Given the description of an element on the screen output the (x, y) to click on. 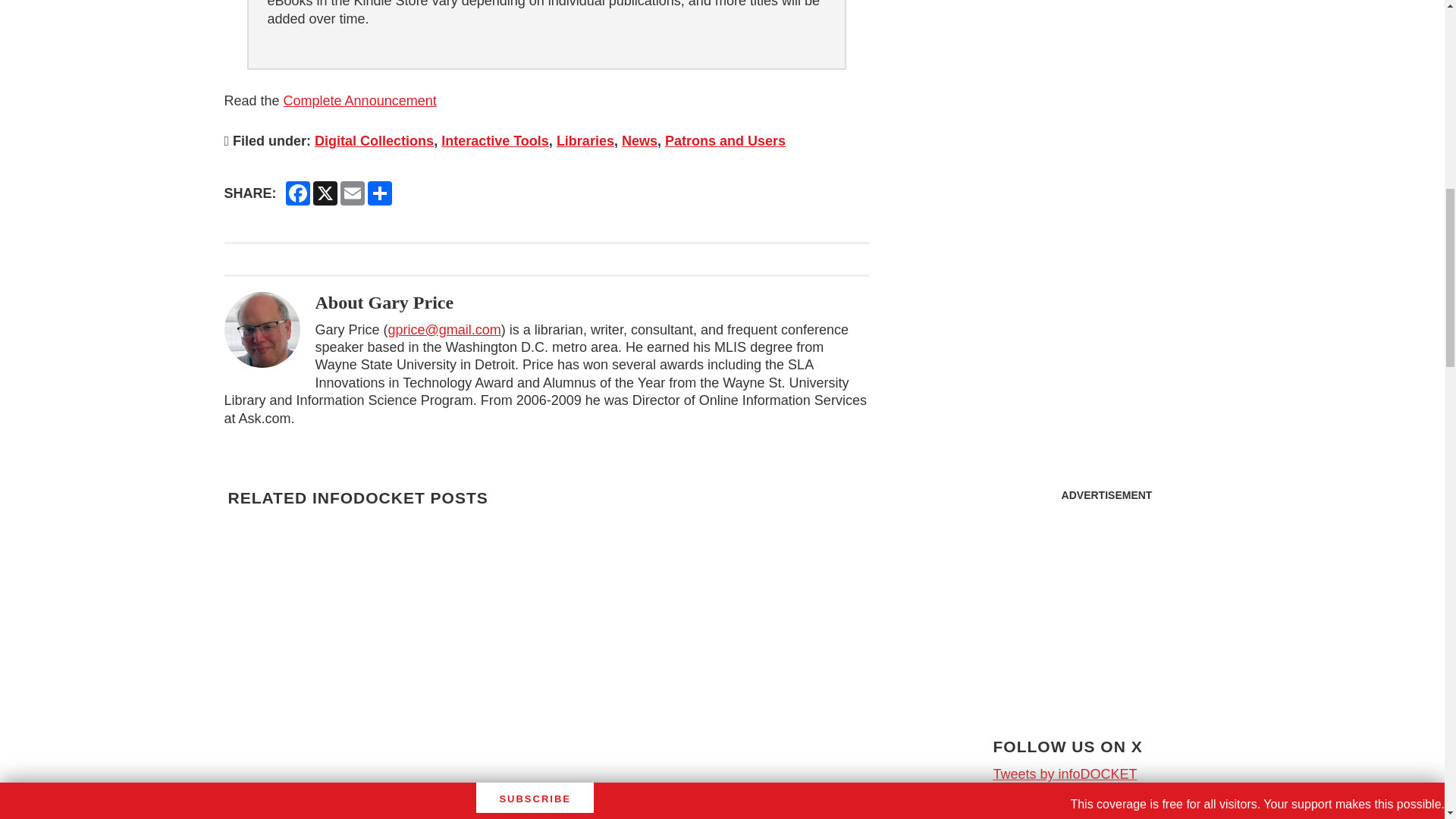
3rd party ad content (1106, 91)
3rd party ad content (1106, 604)
